Given the description of an element on the screen output the (x, y) to click on. 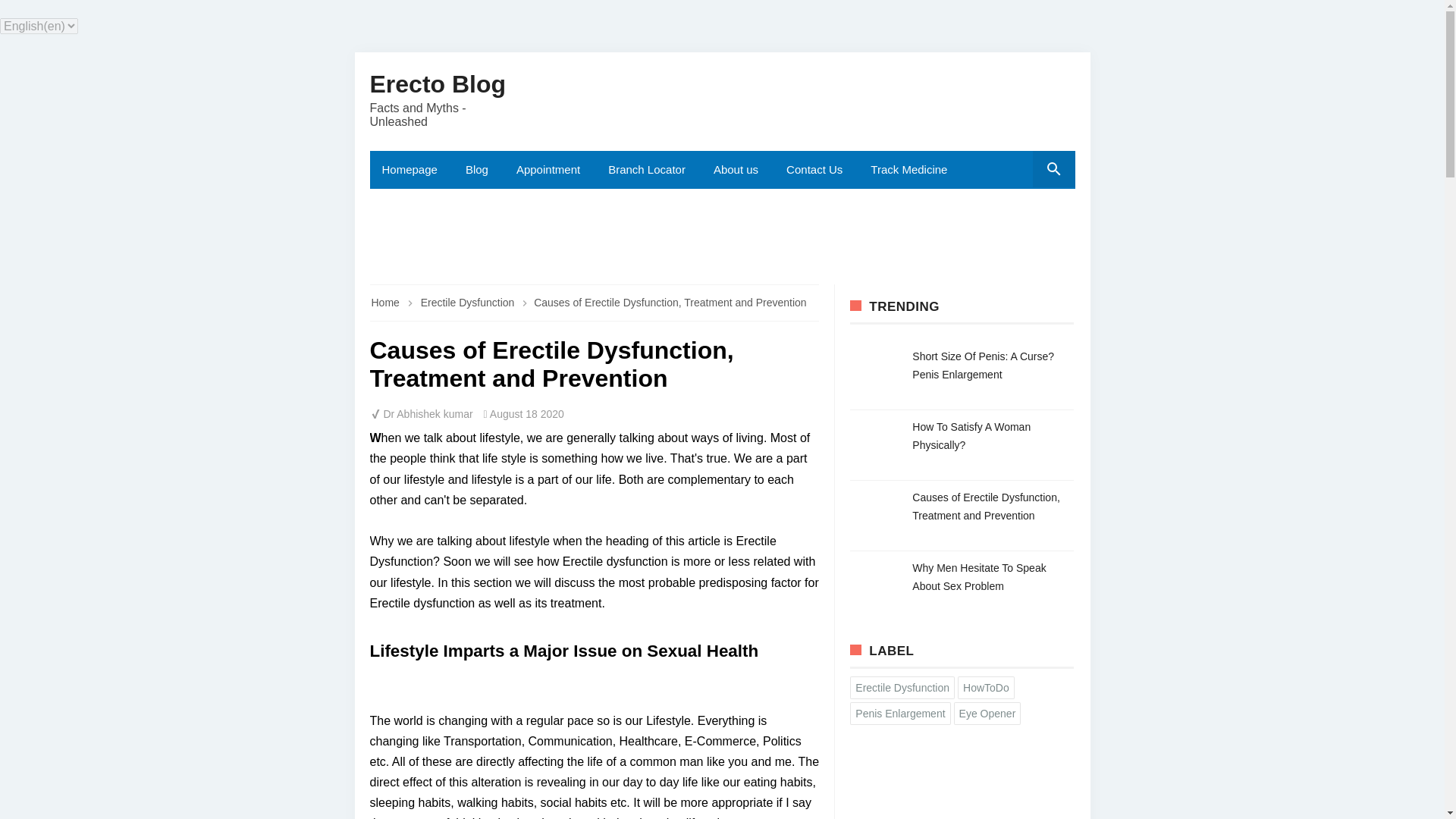
Best Sexologist (722, 236)
Blog (477, 169)
Penis Enlargement (899, 712)
Erectile Dysfunction (469, 302)
Erecto Blog (437, 83)
erectile dysfunction (469, 302)
Short Size Of Penis: A Curse? Penis Enlargement (983, 365)
Homepage (410, 169)
Contact Us (816, 169)
Erectile Dysfunction (901, 687)
